Given the description of an element on the screen output the (x, y) to click on. 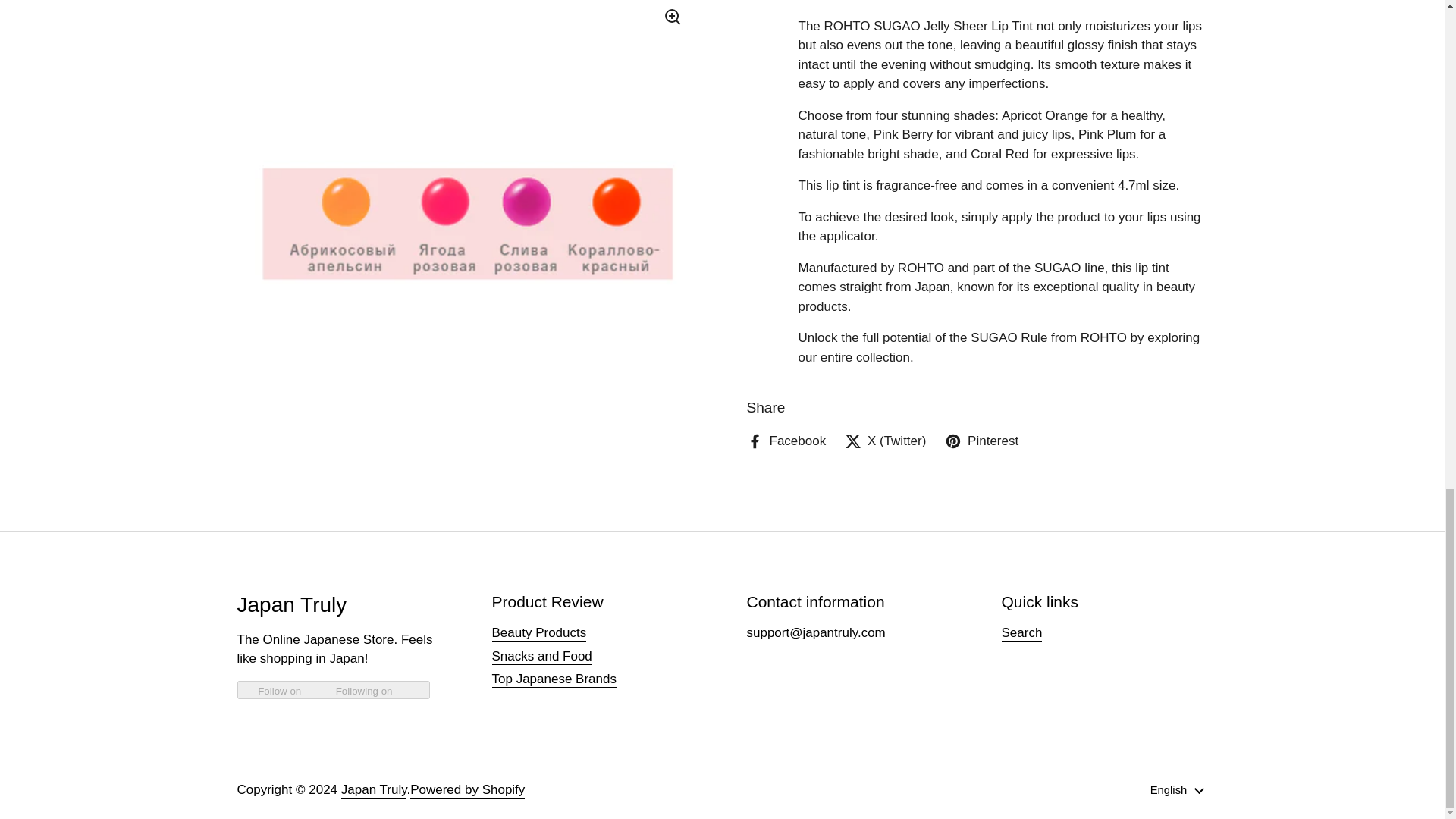
Snacks and Food (541, 657)
Share on facebook (785, 193)
Share on X (885, 193)
Pinterest (980, 193)
Share on pinterest (980, 193)
Beauty Products (539, 633)
Facebook (785, 193)
